Given the description of an element on the screen output the (x, y) to click on. 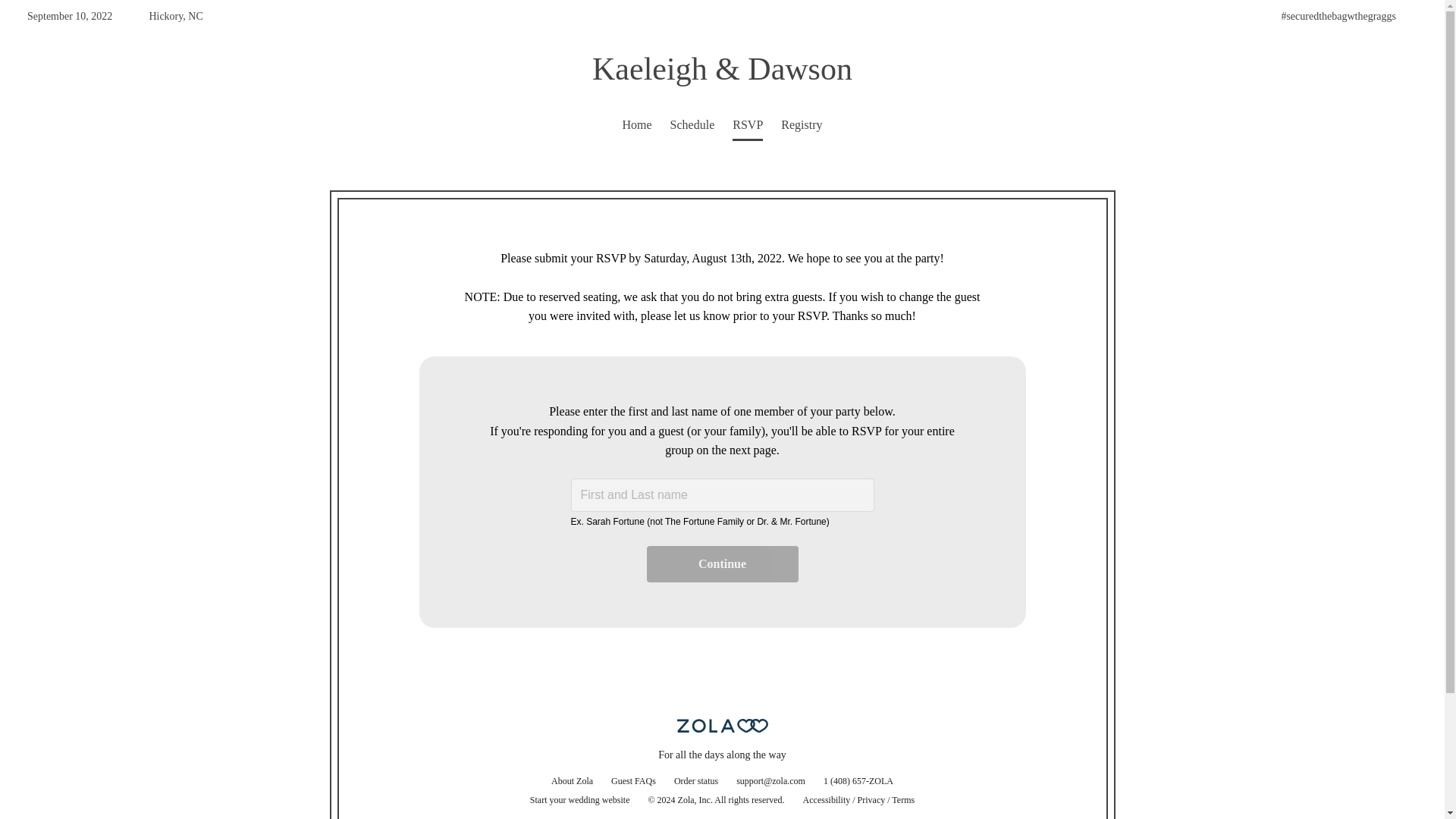
Order status (695, 781)
About Zola (571, 781)
Terms (902, 799)
Accessibility (826, 799)
Schedule (691, 124)
Guest FAQs (633, 781)
Start your wedding website (579, 799)
RSVP (747, 124)
Home (635, 124)
Registry (801, 124)
